Given the description of an element on the screen output the (x, y) to click on. 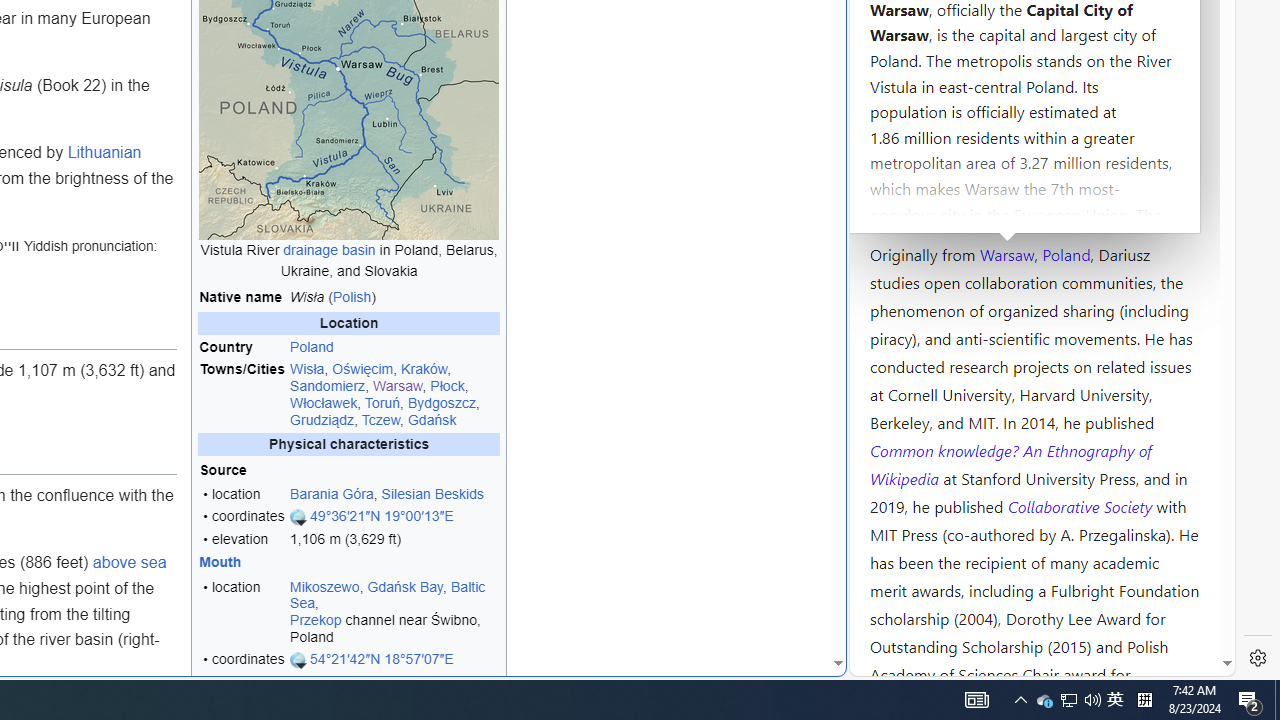
Mikoszewo (324, 586)
Mouth (219, 561)
Baltic Sea (387, 595)
Country (241, 347)
Silesian Beskids (433, 493)
